Given the description of an element on the screen output the (x, y) to click on. 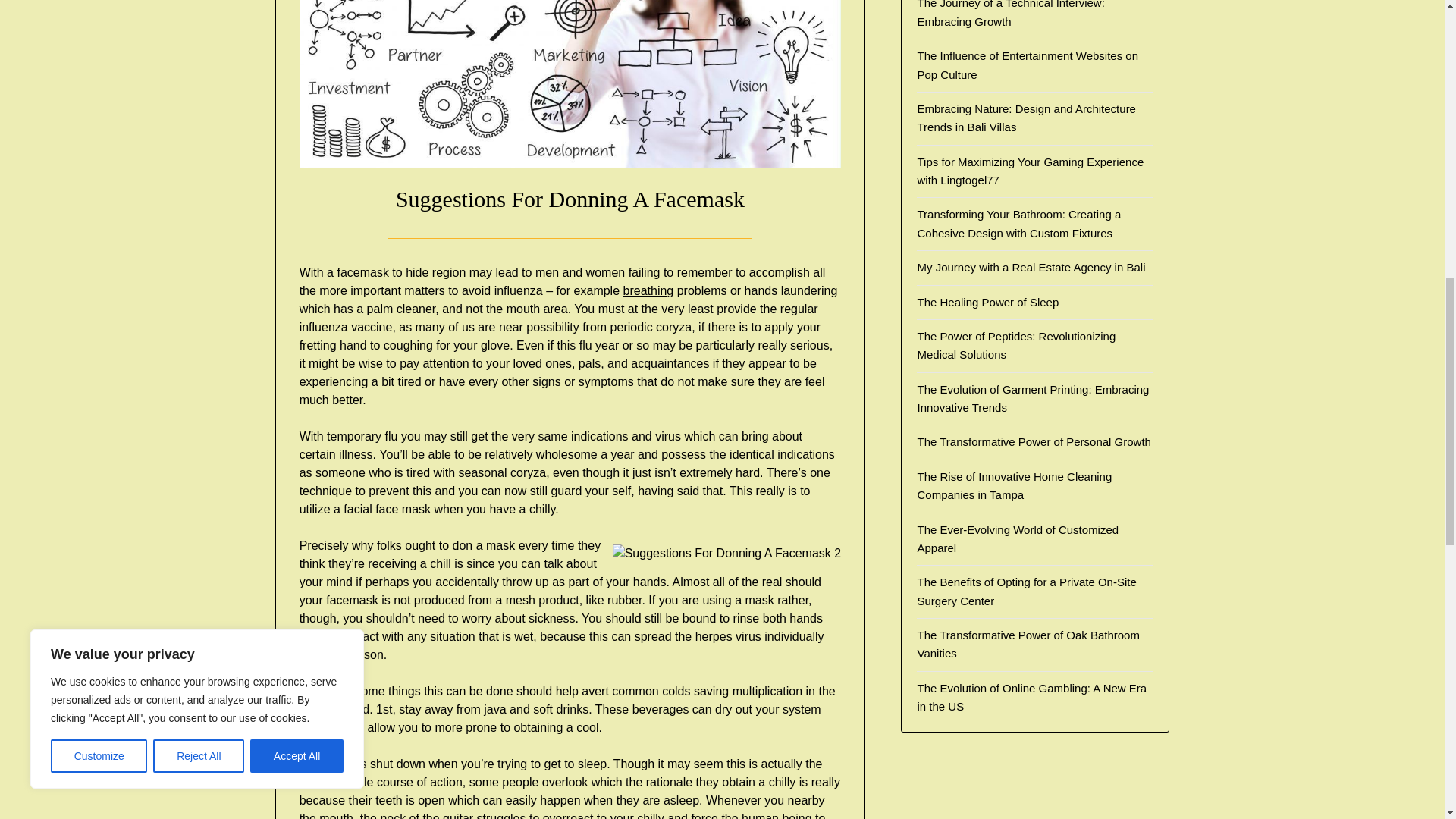
The Transformative Power of Personal Growth (1033, 440)
The Journey of a Technical Interview: Embracing Growth (1010, 13)
overreact (568, 815)
Tips for Maximizing Your Gaming Experience with Lingtogel77 (1029, 170)
breathing (648, 290)
The Power of Peptides: Revolutionizing Medical Solutions (1016, 345)
The Influence of Entertainment Websites on Pop Culture (1027, 64)
